Given the description of an element on the screen output the (x, y) to click on. 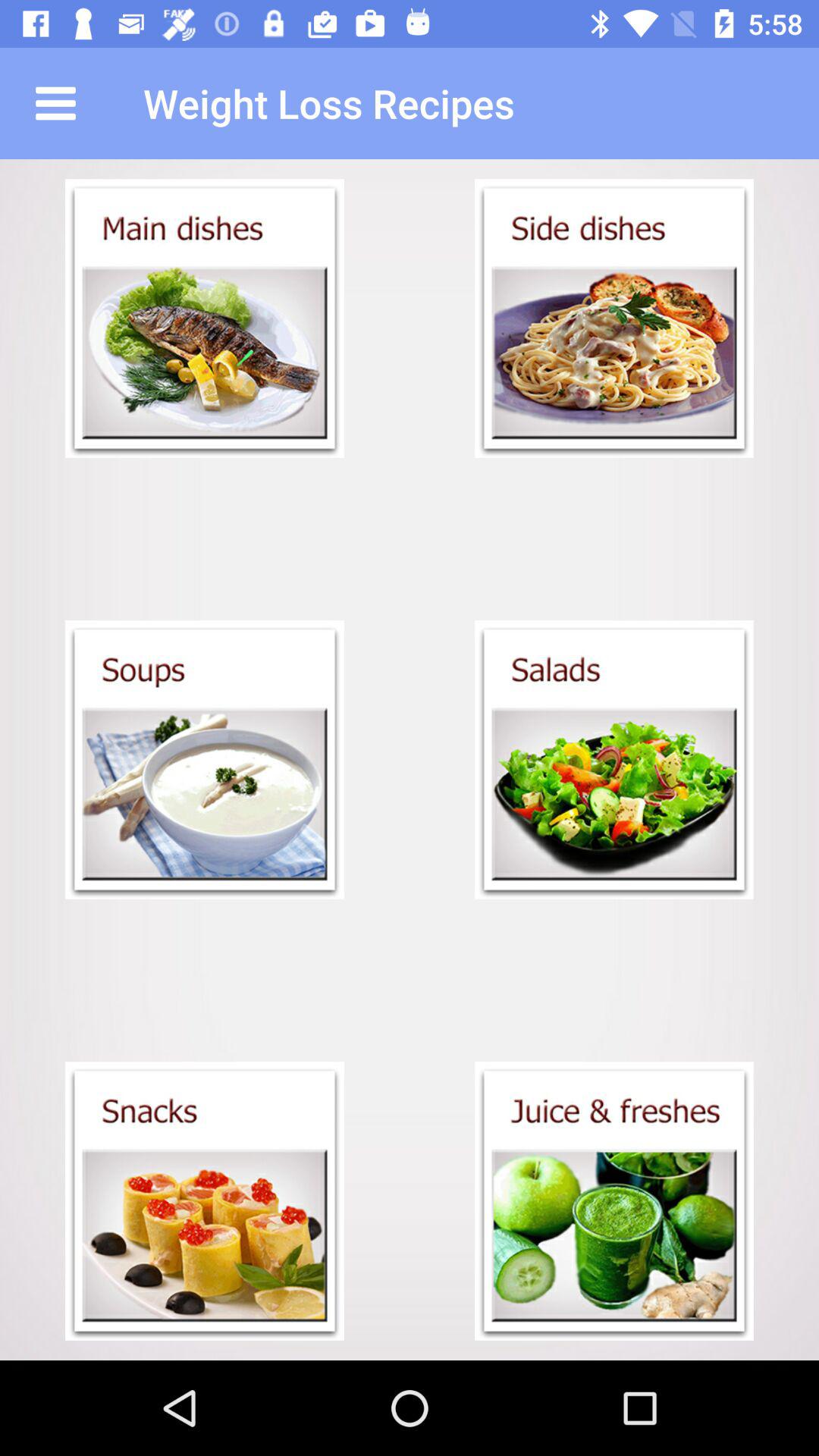
select juice freshes recipes (614, 1200)
